Given the description of an element on the screen output the (x, y) to click on. 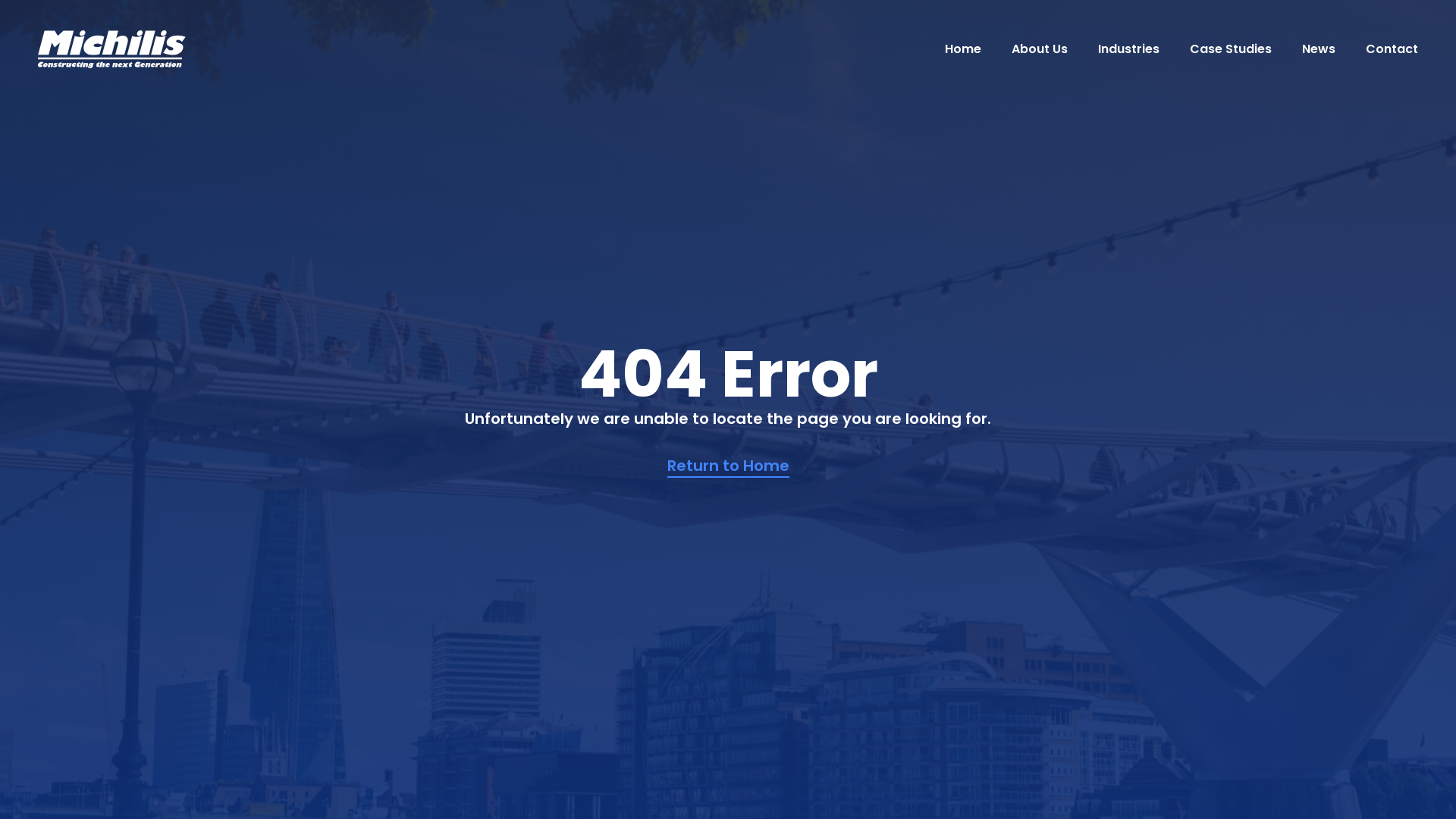
About Us Element type: text (1039, 48)
Contact Element type: text (1391, 48)
Home Element type: text (962, 48)
Case Studies Element type: text (1230, 48)
Return to Home Element type: text (728, 466)
News Element type: text (1318, 48)
Industries Element type: text (1128, 48)
